Given the description of an element on the screen output the (x, y) to click on. 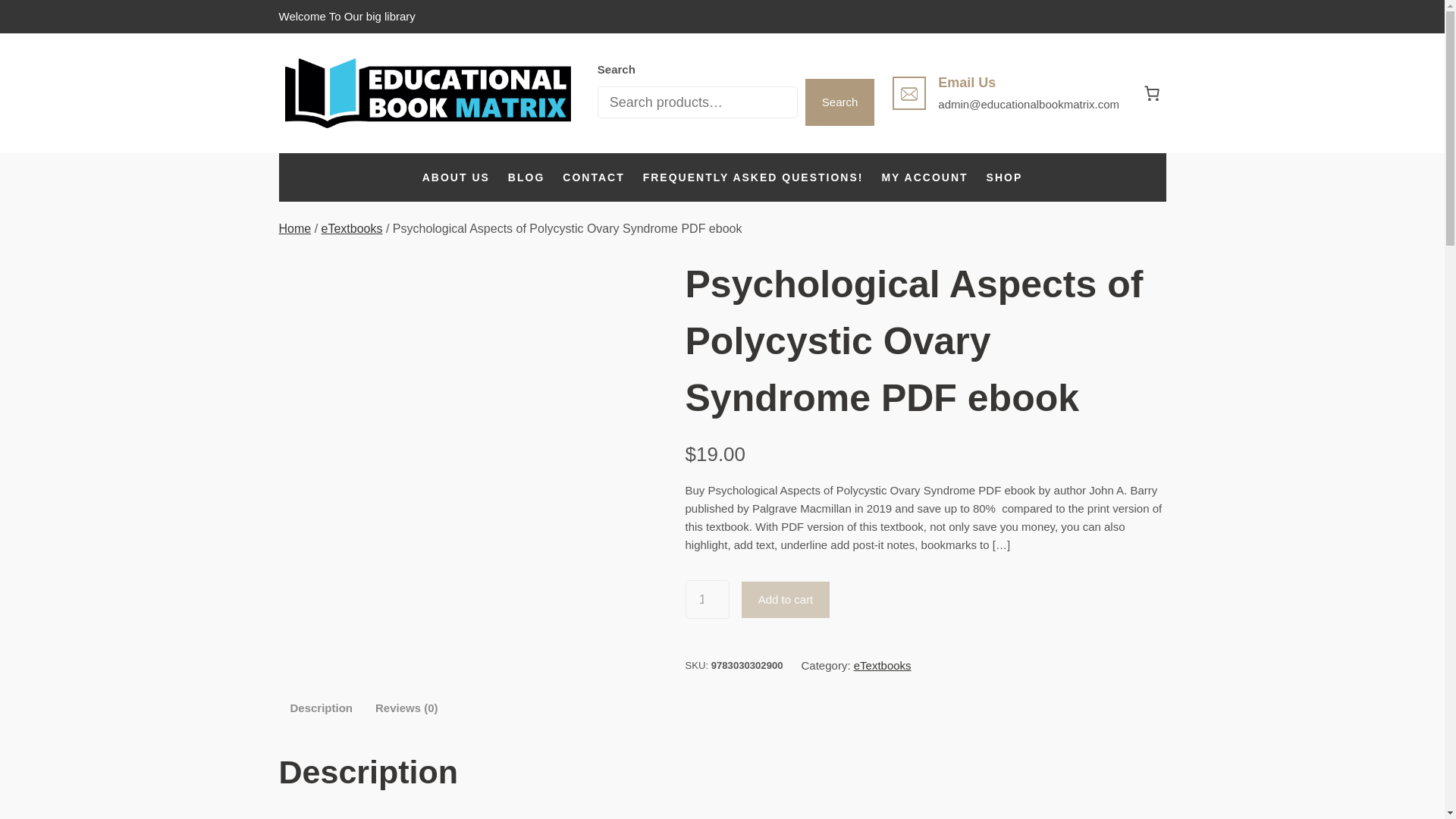
SHOP (1005, 177)
Description (320, 707)
MY ACCOUNT (924, 177)
eTextbooks (351, 228)
Add to cart (785, 599)
1 (707, 599)
Home (295, 228)
FREQUENTLY ASKED QUESTIONS! (753, 177)
ABOUT US (455, 177)
CONTACT (593, 177)
BLOG (526, 177)
Search (840, 102)
eTextbooks (882, 665)
